Given the description of an element on the screen output the (x, y) to click on. 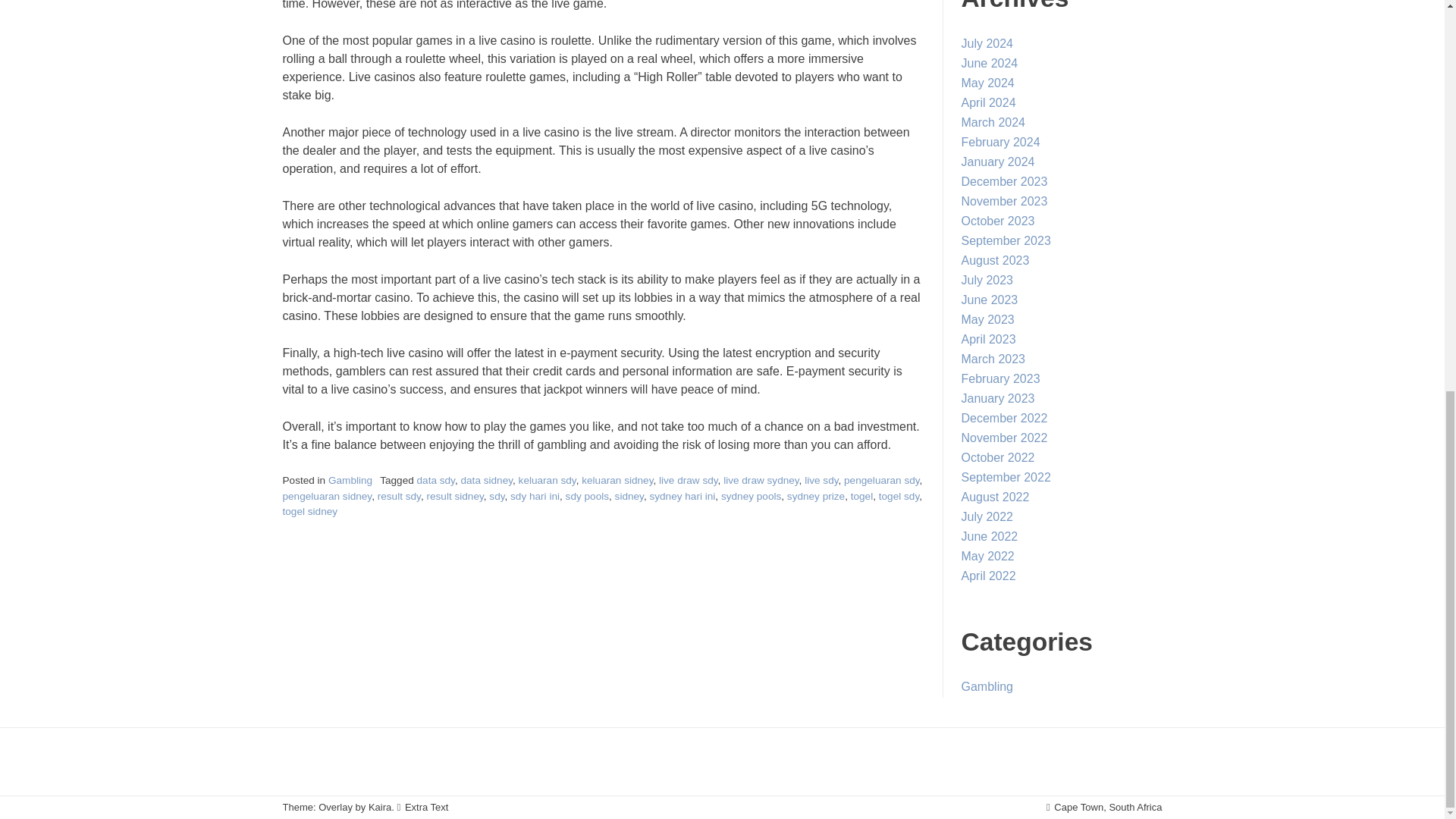
sdy (496, 496)
live sdy (821, 480)
July 2024 (986, 42)
Gambling (350, 480)
result sidney (454, 496)
data sdy (435, 480)
sydney hari ini (681, 496)
sdy pools (587, 496)
keluaran sidney (616, 480)
data sidney (486, 480)
togel sidney (309, 511)
keluaran sdy (547, 480)
sydney prize (815, 496)
live draw sydney (760, 480)
pengeluaran sdy (882, 480)
